Given the description of an element on the screen output the (x, y) to click on. 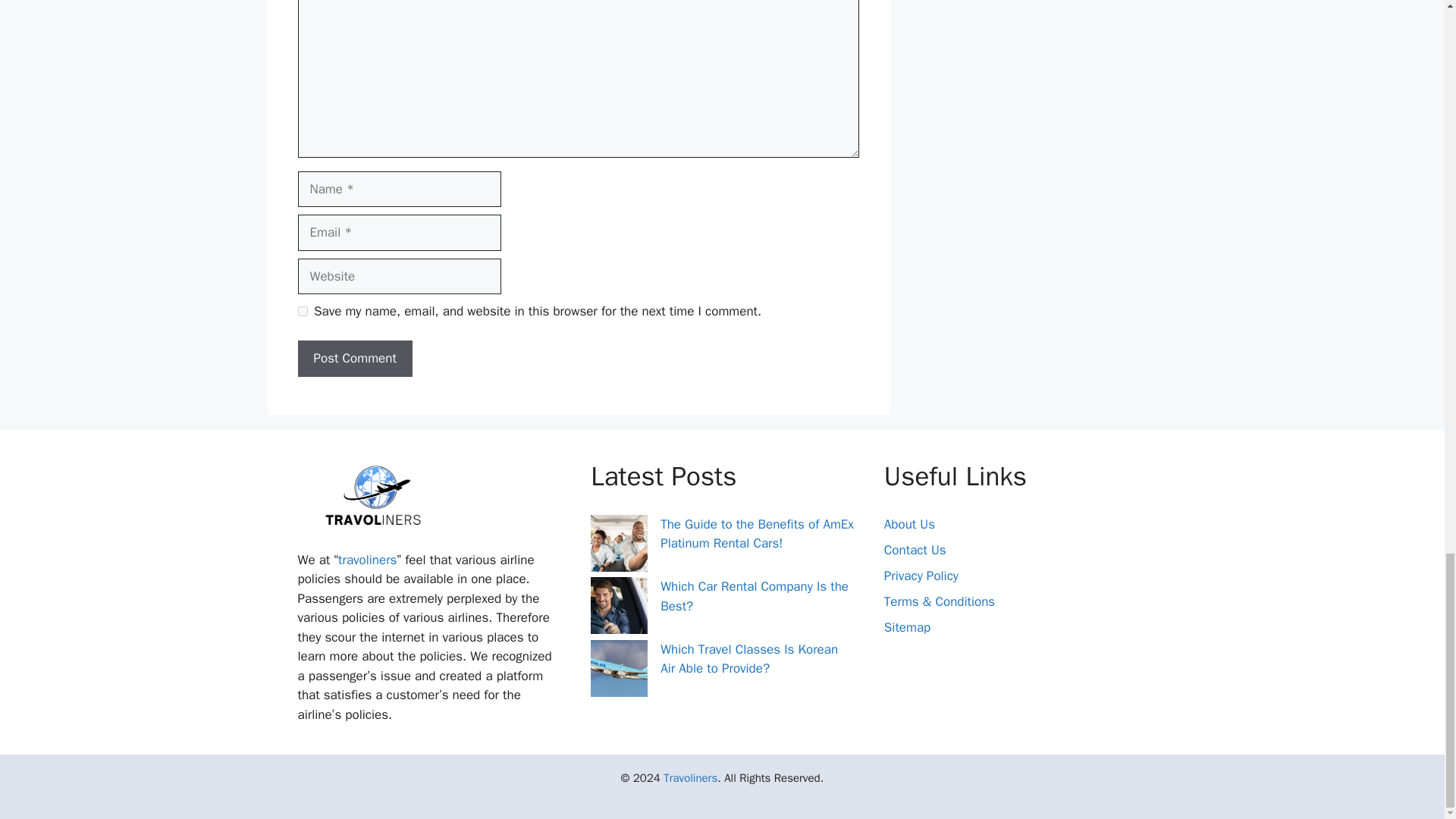
Which Travel Classes Is Korean Air Able to Provide? (749, 659)
Post Comment (354, 358)
Contact Us (914, 549)
Travoliners (690, 777)
travoliners (366, 560)
Which Car Rental Company Is the Best? (754, 596)
yes (302, 311)
About Us (908, 524)
Privacy Policy (920, 575)
Sitemap (906, 627)
Post Comment (354, 358)
The Guide to the Benefits of AmEx Platinum Rental Cars! (757, 534)
